Given the description of an element on the screen output the (x, y) to click on. 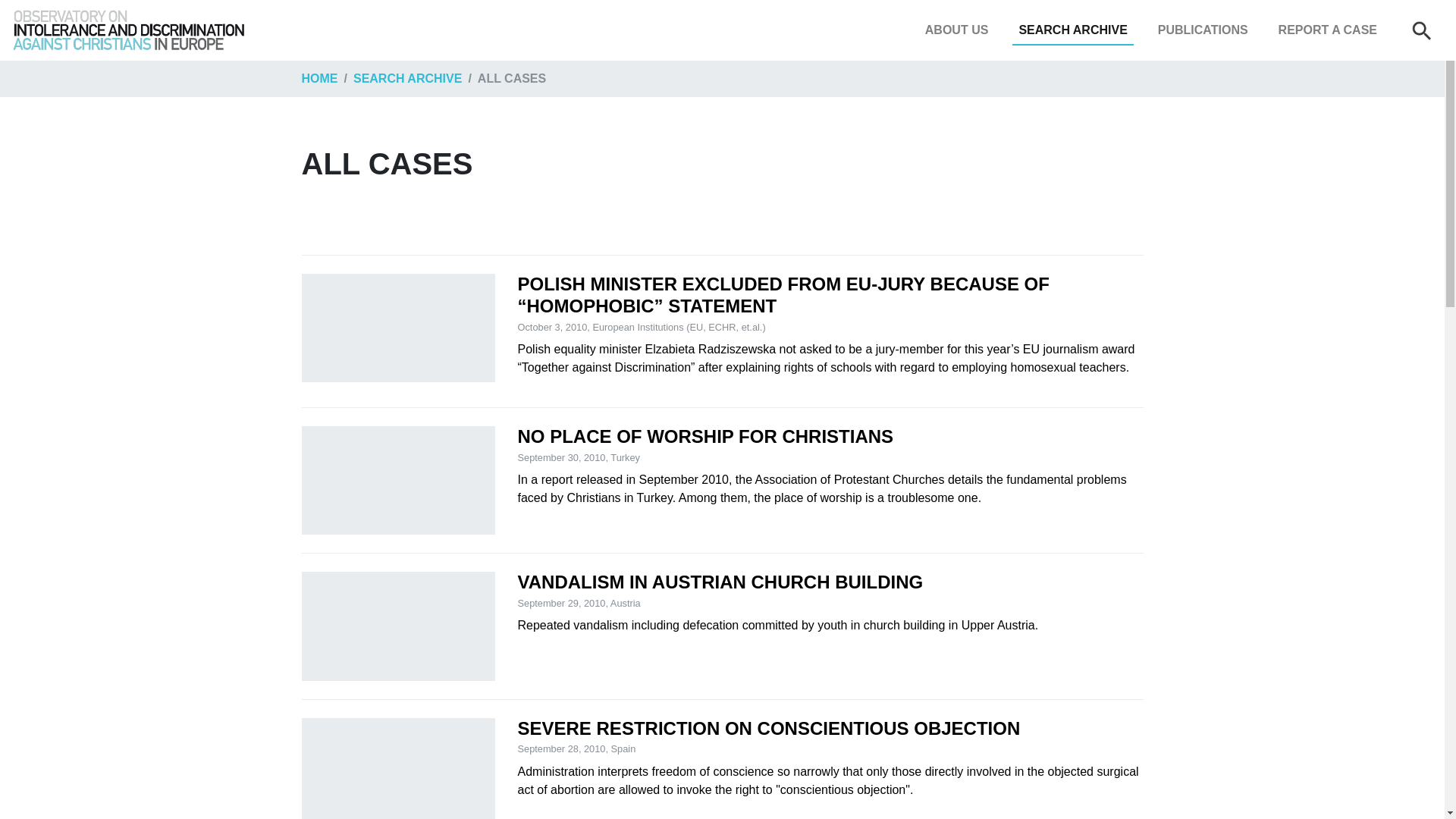
About us (956, 30)
Publications (1202, 30)
ABOUT US (956, 30)
REPORT A CASE (1327, 30)
PUBLICATIONS (1202, 30)
SEARCH ARCHIVE (1071, 30)
Report a case (1327, 30)
Search archive (1071, 30)
